Given the description of an element on the screen output the (x, y) to click on. 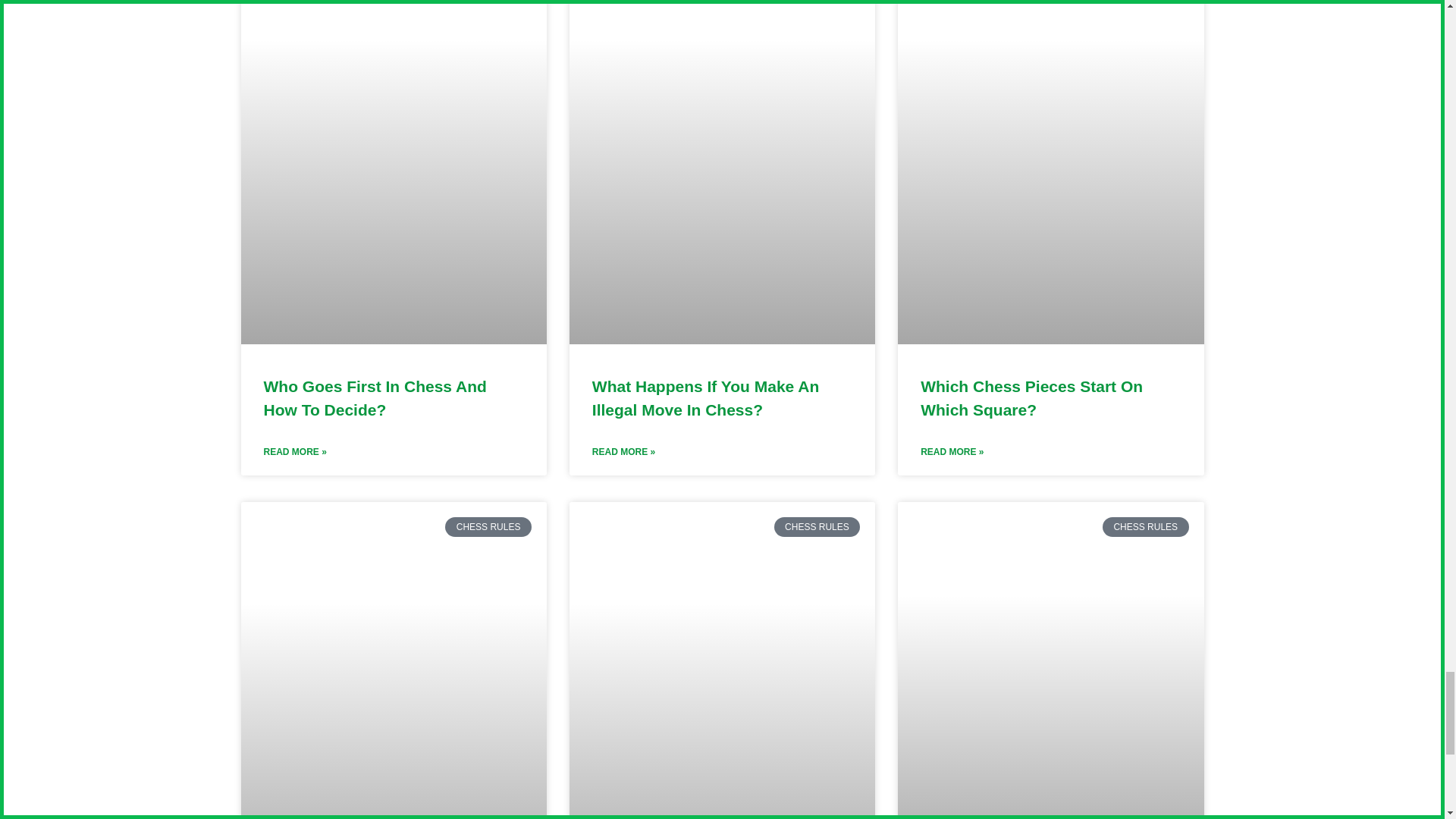
What Happens If You Make An Illegal Move In Chess? (705, 398)
Which Chess Pieces Start On Which Square? (1031, 398)
Who Goes First In Chess And How To Decide? (374, 398)
